Given the description of an element on the screen output the (x, y) to click on. 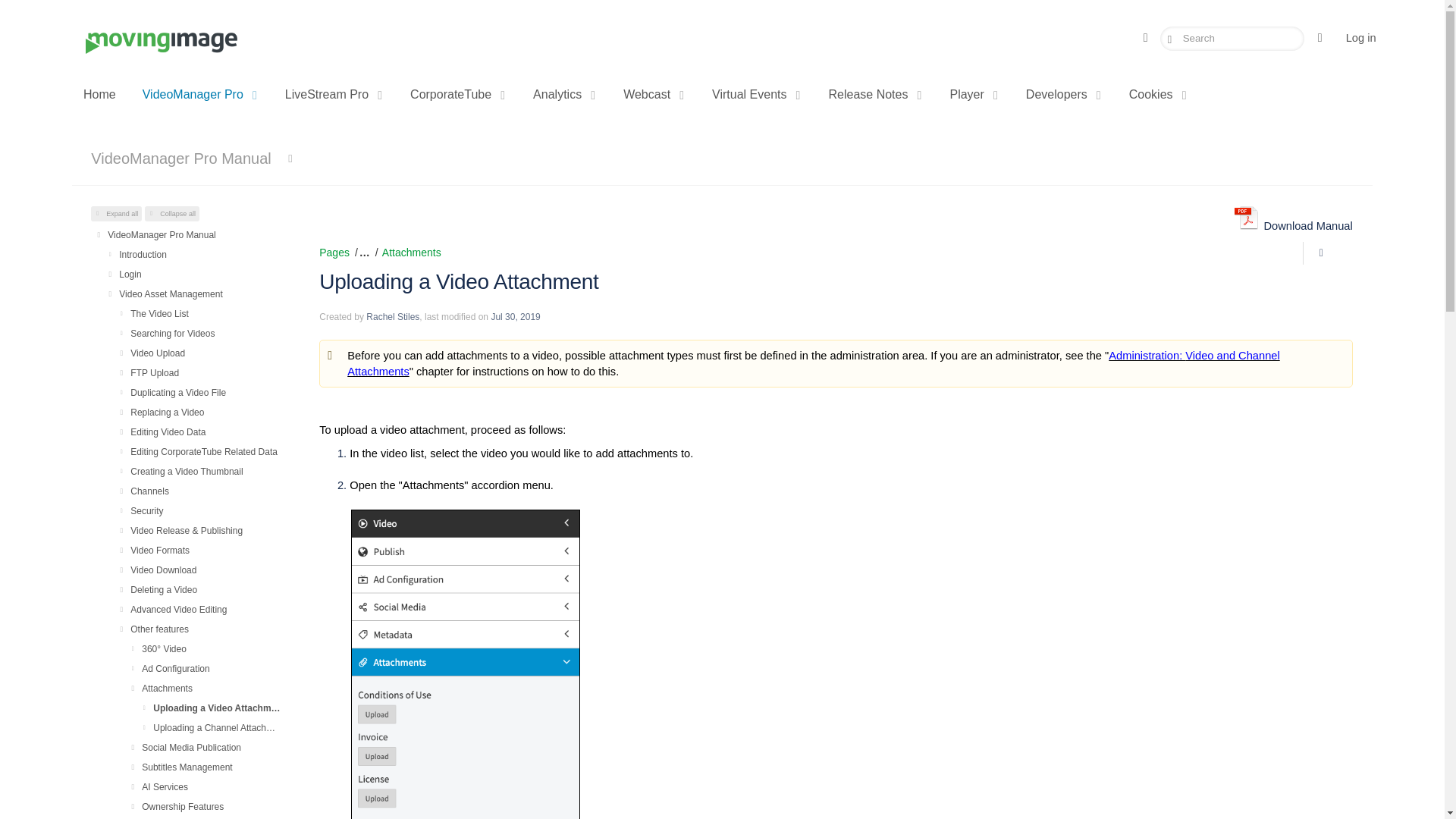
VideoManager Pro Manual (180, 158)
Expand all (115, 213)
Log in (1360, 37)
Analytics (564, 94)
Release Notes (875, 94)
Player (973, 94)
Help (1323, 37)
CorporateTube (458, 94)
Developers (1063, 94)
LiveStream Pro (333, 94)
